Given the description of an element on the screen output the (x, y) to click on. 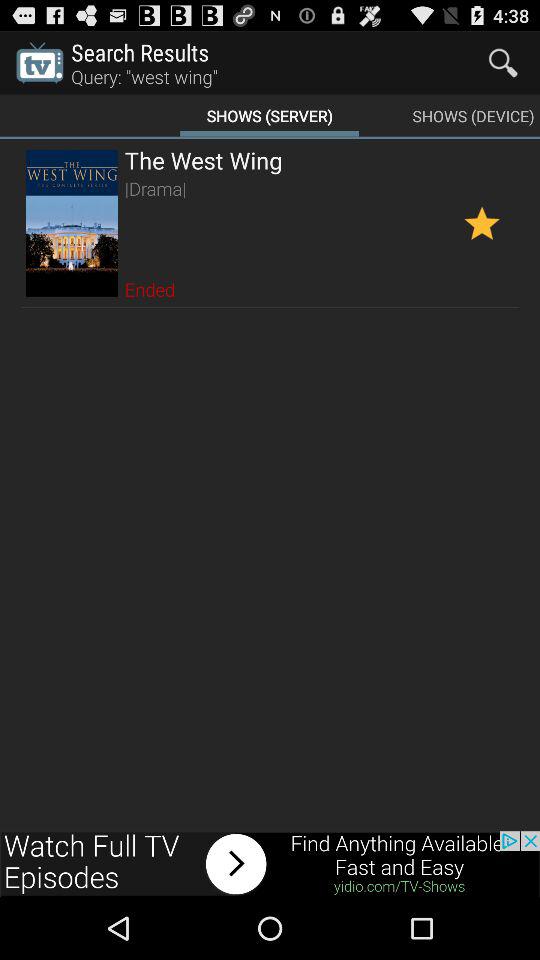
open yidio advertisement (270, 864)
